Given the description of an element on the screen output the (x, y) to click on. 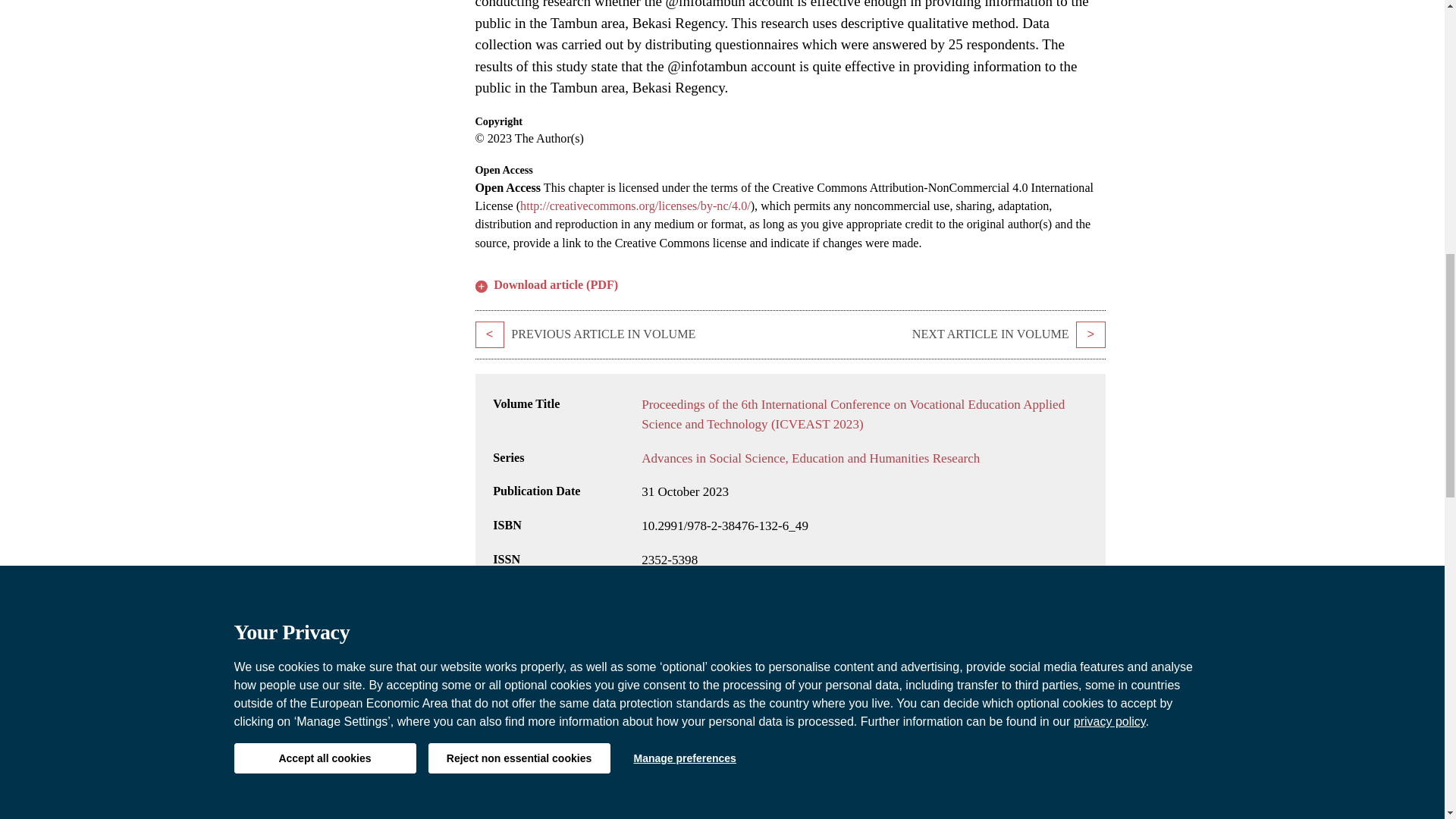
Effective Social Marketing Strategies for Social Changes (1090, 334)
